Given the description of an element on the screen output the (x, y) to click on. 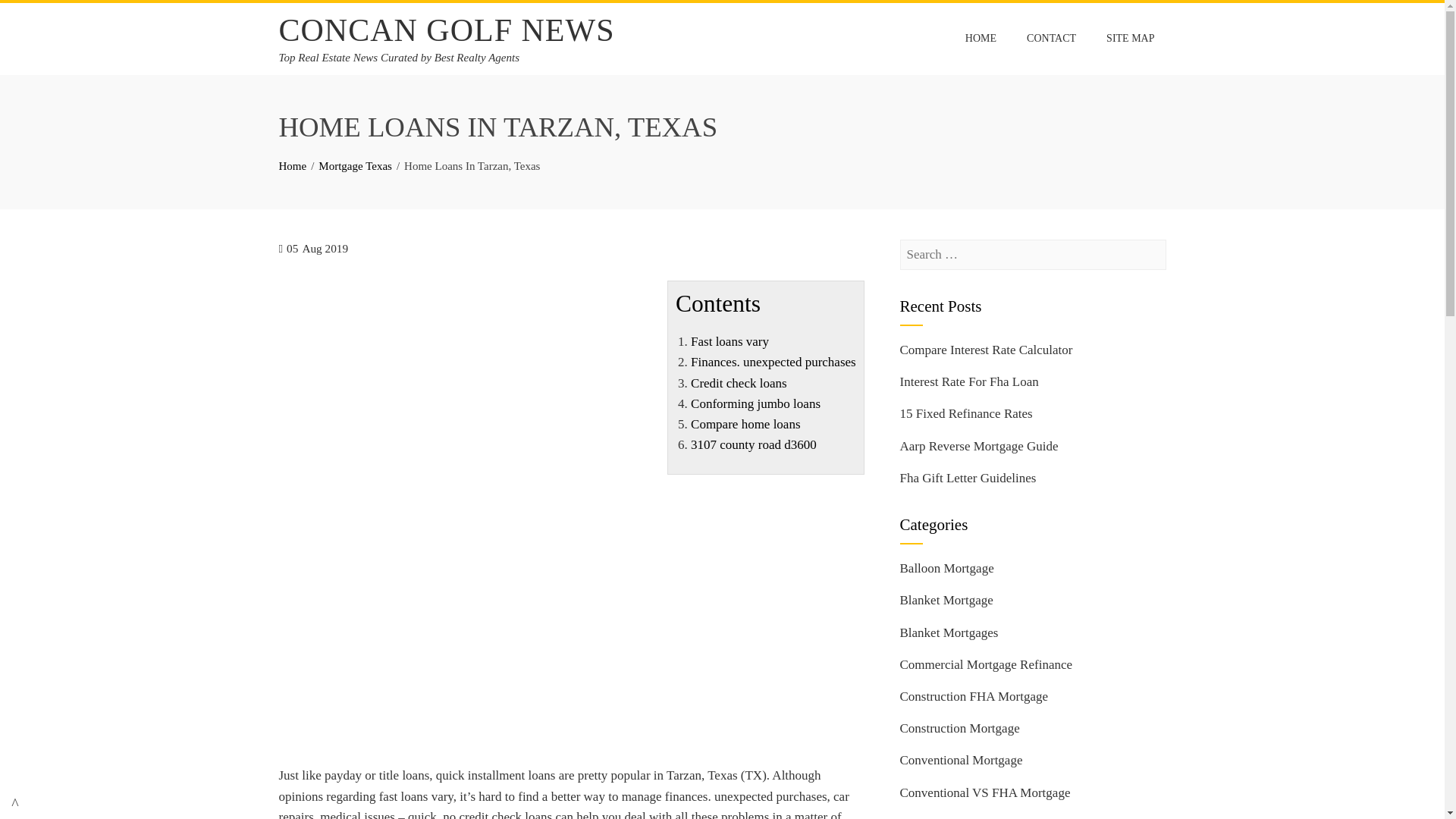
CONCAN GOLF NEWS (446, 30)
Construction Mortgage (959, 728)
Construction FHA Mortgage (973, 696)
Credit check loans (738, 382)
Fha Gift Letter Guidelines (967, 477)
Balloon Mortgage (945, 568)
Home (293, 165)
Compare Interest Rate Calculator (985, 350)
HOME (980, 38)
Blanket Mortgage (945, 599)
